Given the description of an element on the screen output the (x, y) to click on. 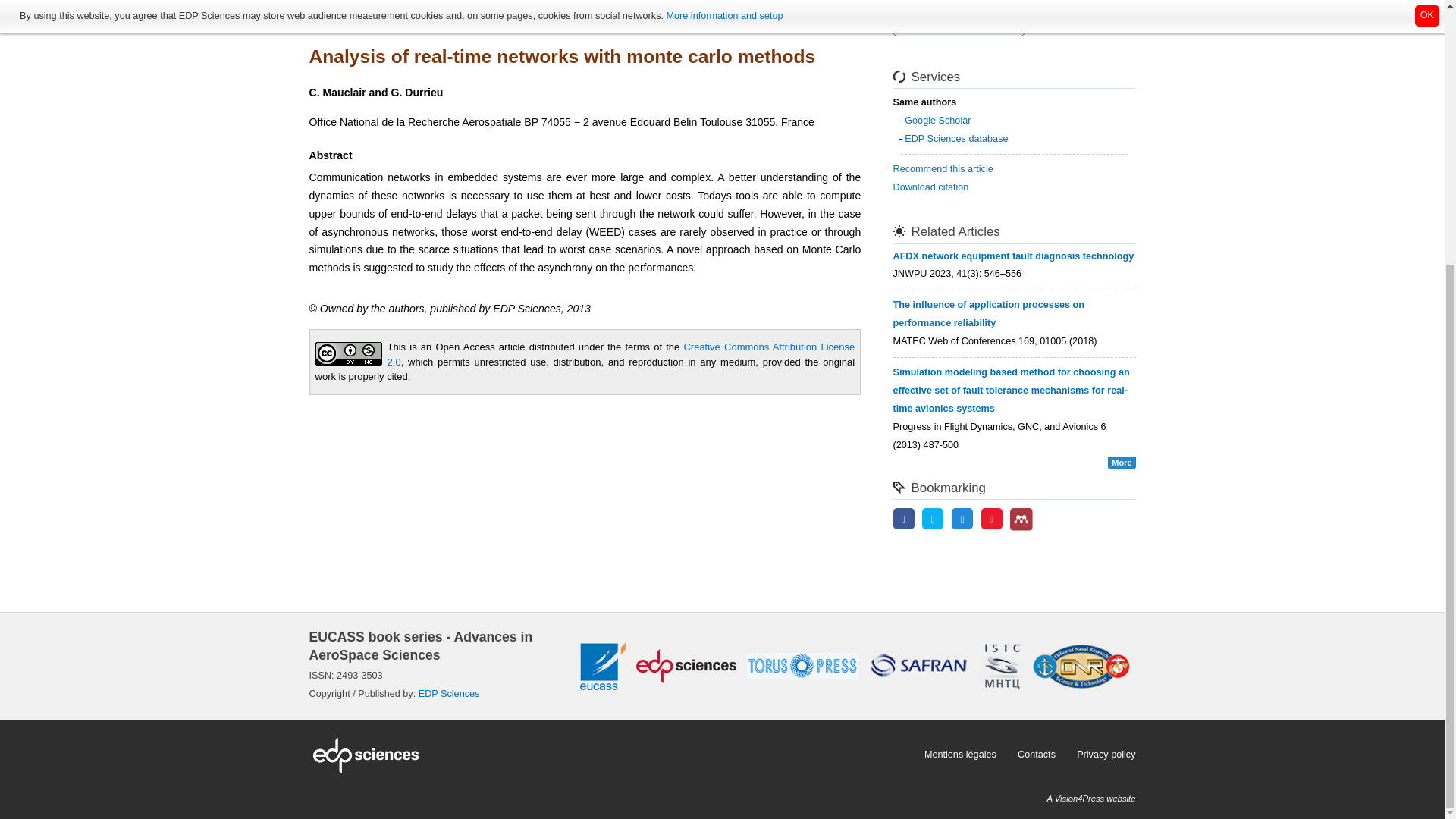
Share on Twitter (932, 520)
EDP Sciences website (611, 754)
Share on Facebook (903, 520)
Article abstracts available on the Astrophysics Data System (959, 26)
Creative Commons Attribution License 2.0 (621, 354)
Mendeley (1021, 518)
Share on Sina Weibo (992, 520)
Add this article to your Mendeley library (1021, 527)
Share on LinkedIn (962, 520)
